Given the description of an element on the screen output the (x, y) to click on. 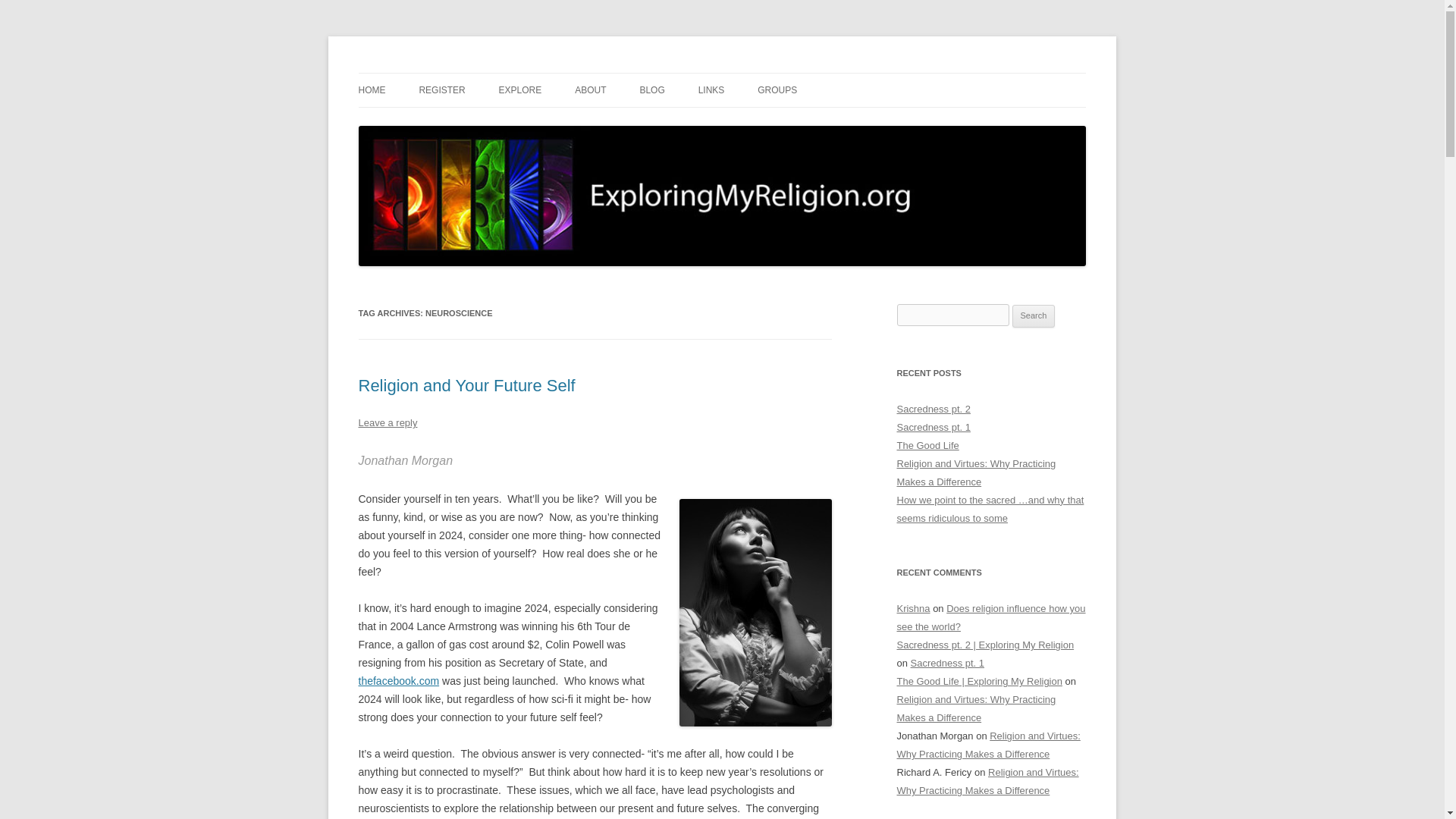
Leave a reply (387, 422)
REGISTER (441, 90)
thefacebook.com (398, 680)
Search (1033, 315)
Religion and Your Future Self (466, 384)
ABOUT (590, 90)
Exploring My Religion (461, 72)
GROUPS (776, 90)
EXPLORE (520, 90)
Exploring My Religion (461, 72)
